Given the description of an element on the screen output the (x, y) to click on. 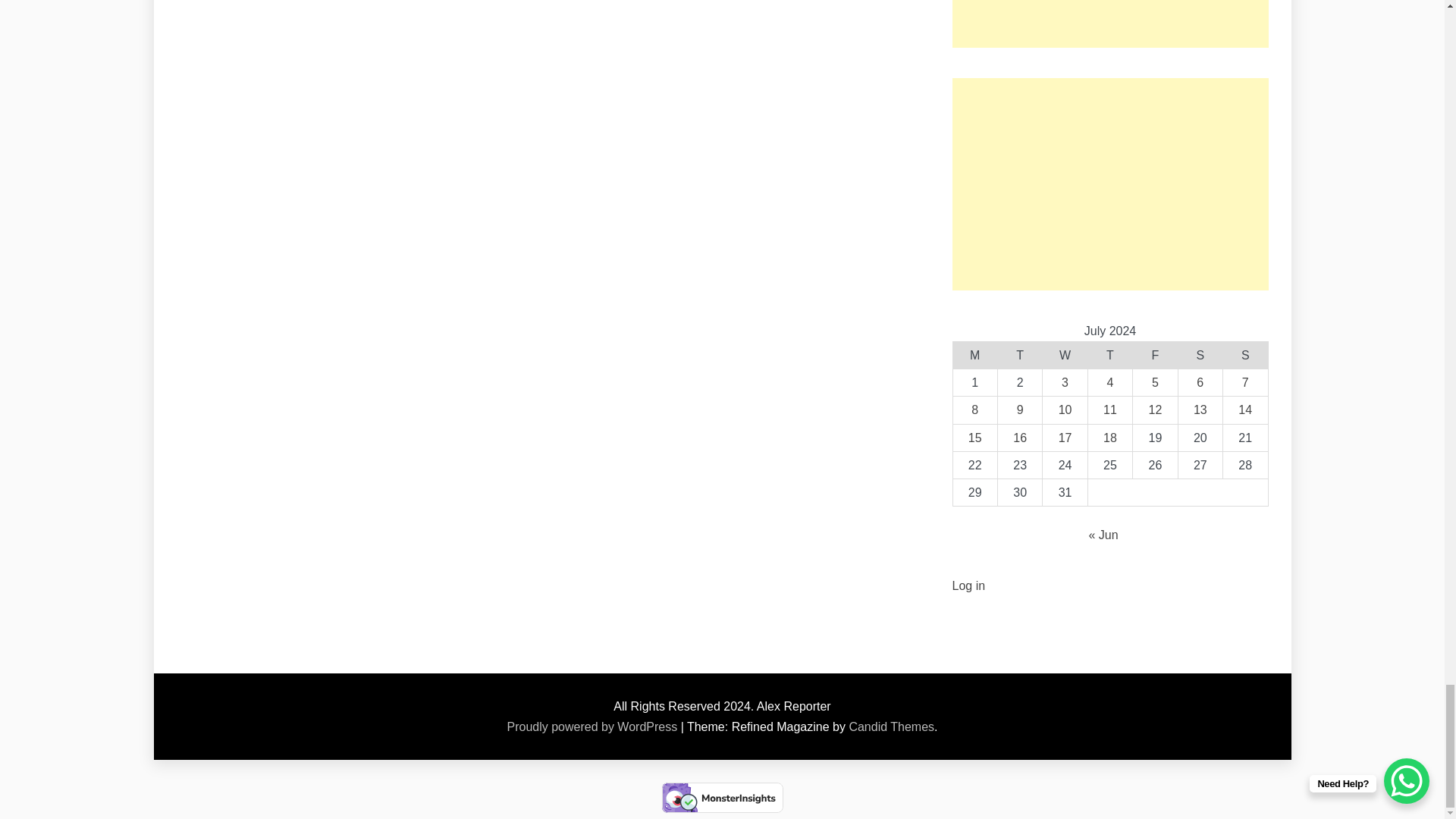
Thursday (1109, 355)
Monday (974, 355)
Tuesday (1019, 355)
Wednesday (1064, 355)
